Given the description of an element on the screen output the (x, y) to click on. 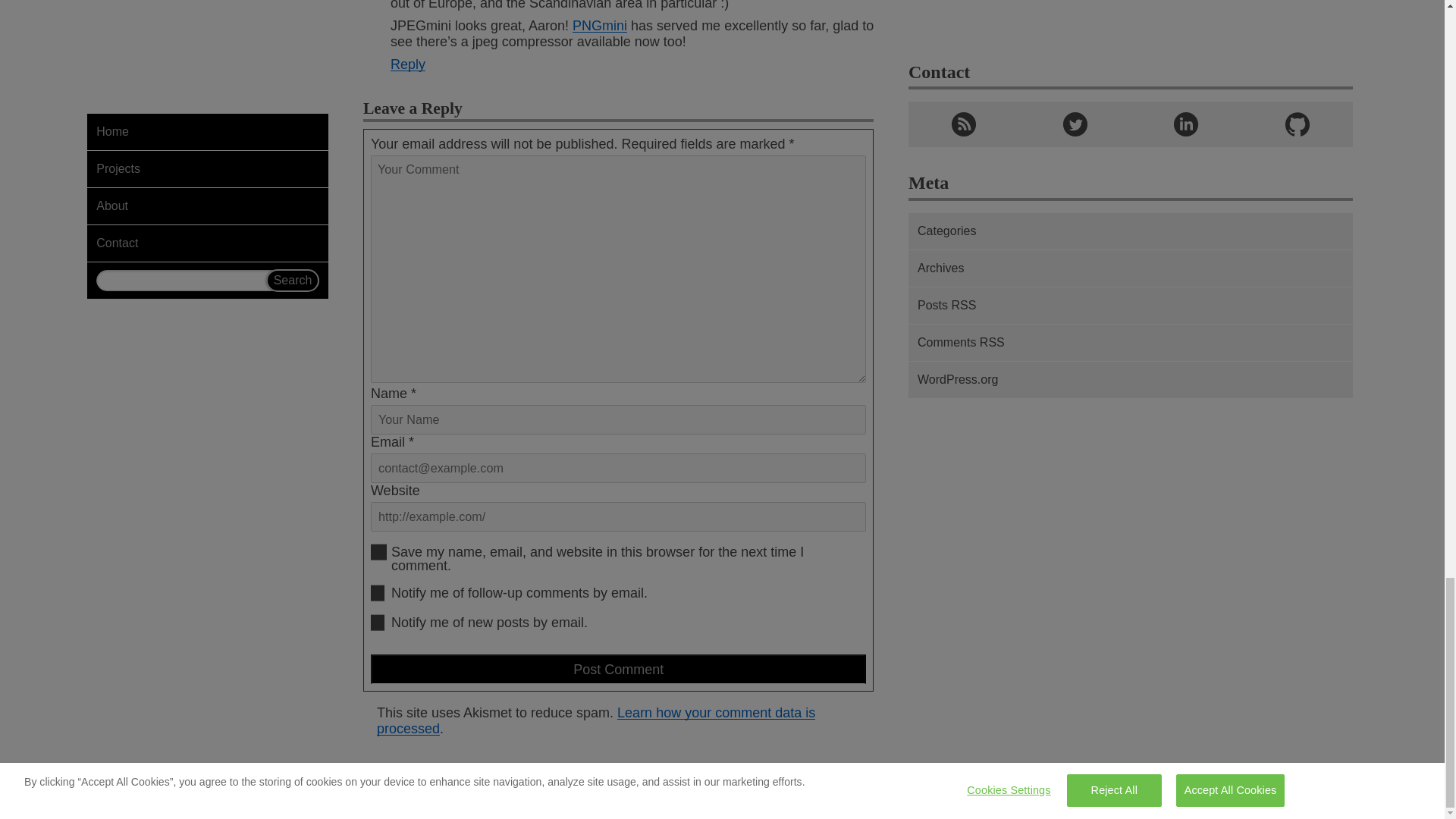
yes (379, 552)
Post Comment (618, 668)
